Given the description of an element on the screen output the (x, y) to click on. 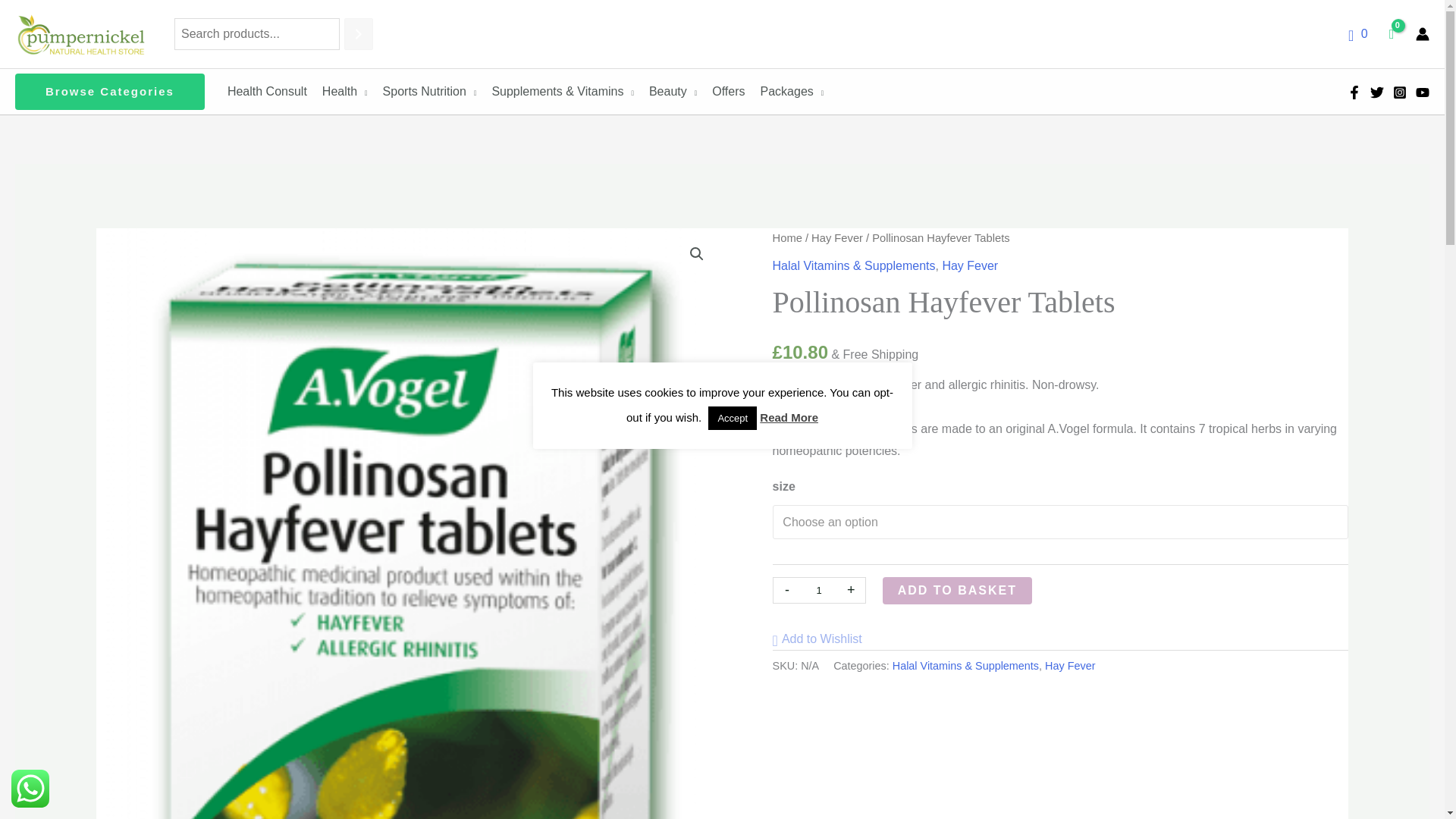
1 (819, 590)
0 (1358, 33)
Browse Categories (109, 91)
Health Consult (266, 91)
Health (344, 91)
